Given the description of an element on the screen output the (x, y) to click on. 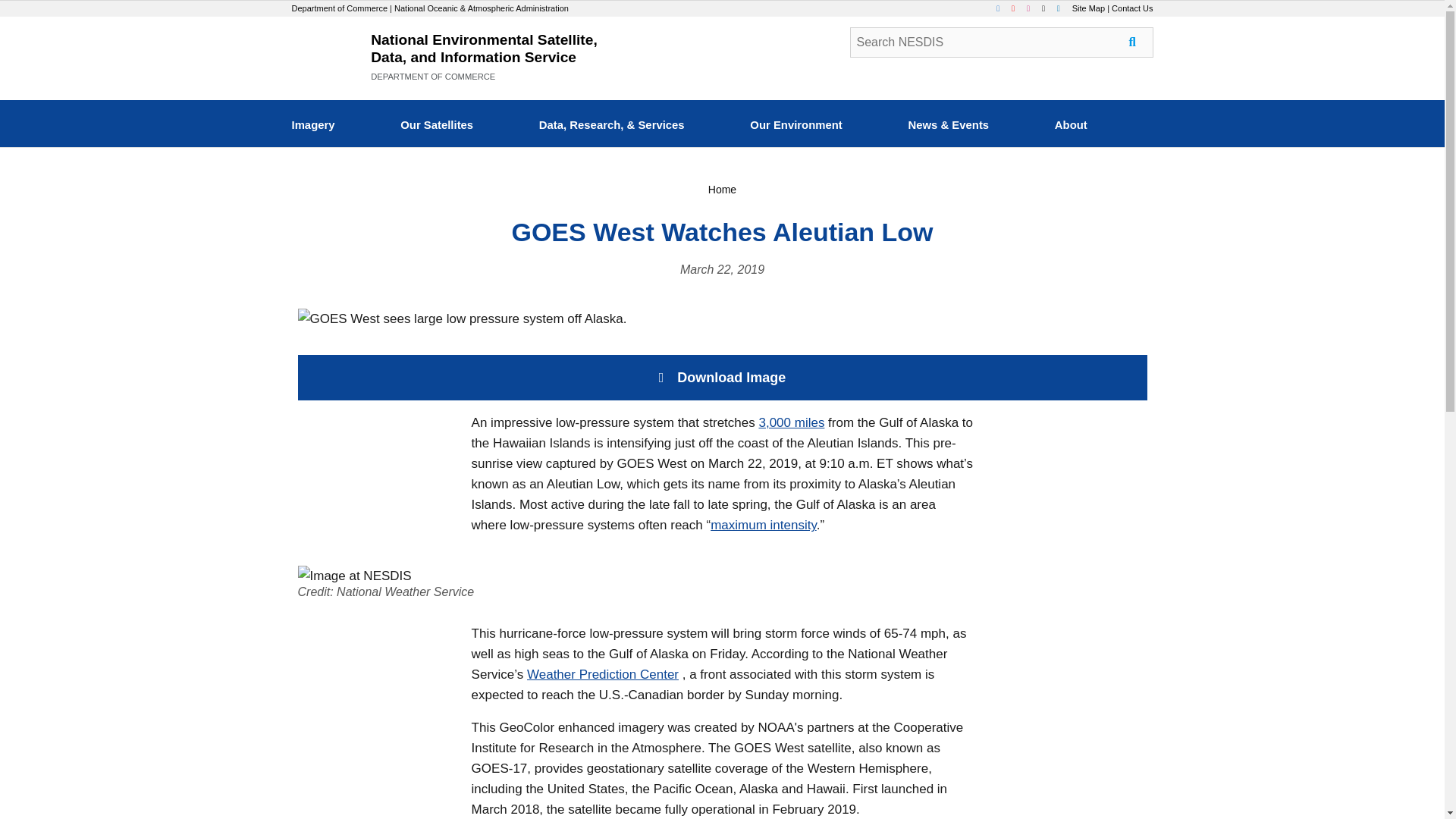
Our Satellites (436, 126)
Youtube header link (1018, 8)
Search (1000, 42)
Facebook header link (1002, 8)
Site Map (1088, 8)
3,000 miles (791, 422)
Our Environment (796, 126)
Twitter header link (1048, 8)
Home (721, 189)
Imagery (312, 126)
About (1070, 126)
Weather Prediction Center (602, 674)
Linkedin header link (1063, 8)
